Given the description of an element on the screen output the (x, y) to click on. 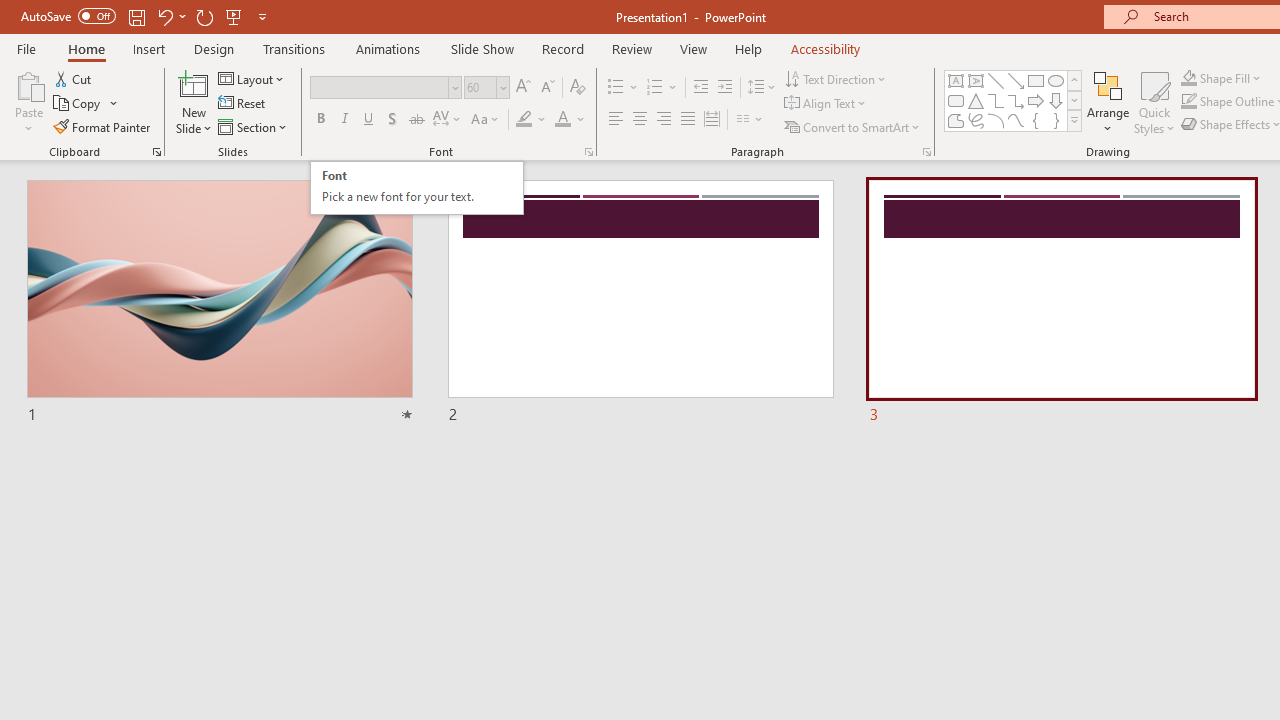
Shape Outline Blue, Accent 1 (1188, 101)
